Given the description of an element on the screen output the (x, y) to click on. 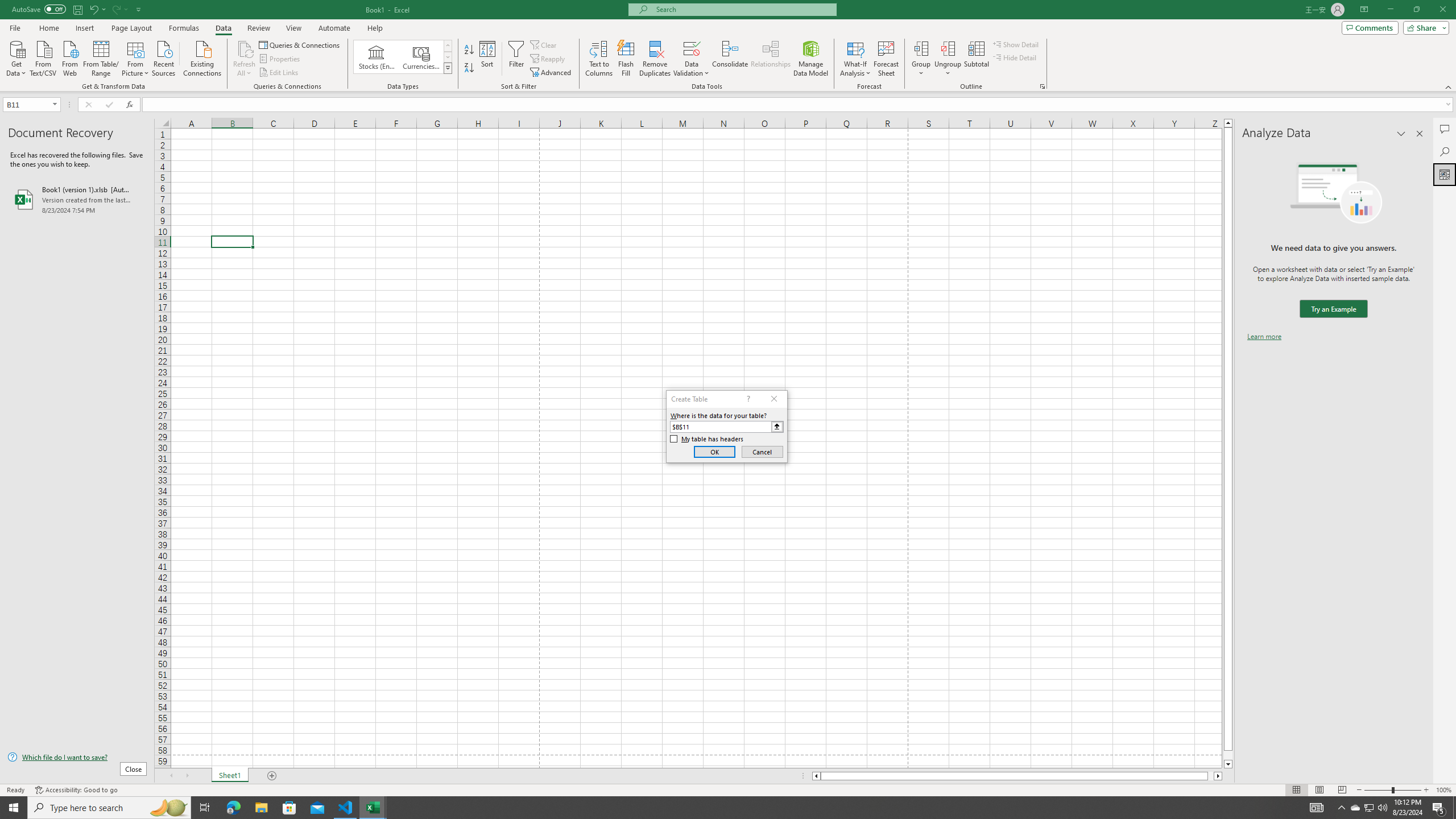
Redo (119, 9)
Name Box (30, 104)
View (293, 28)
